Given the description of an element on the screen output the (x, y) to click on. 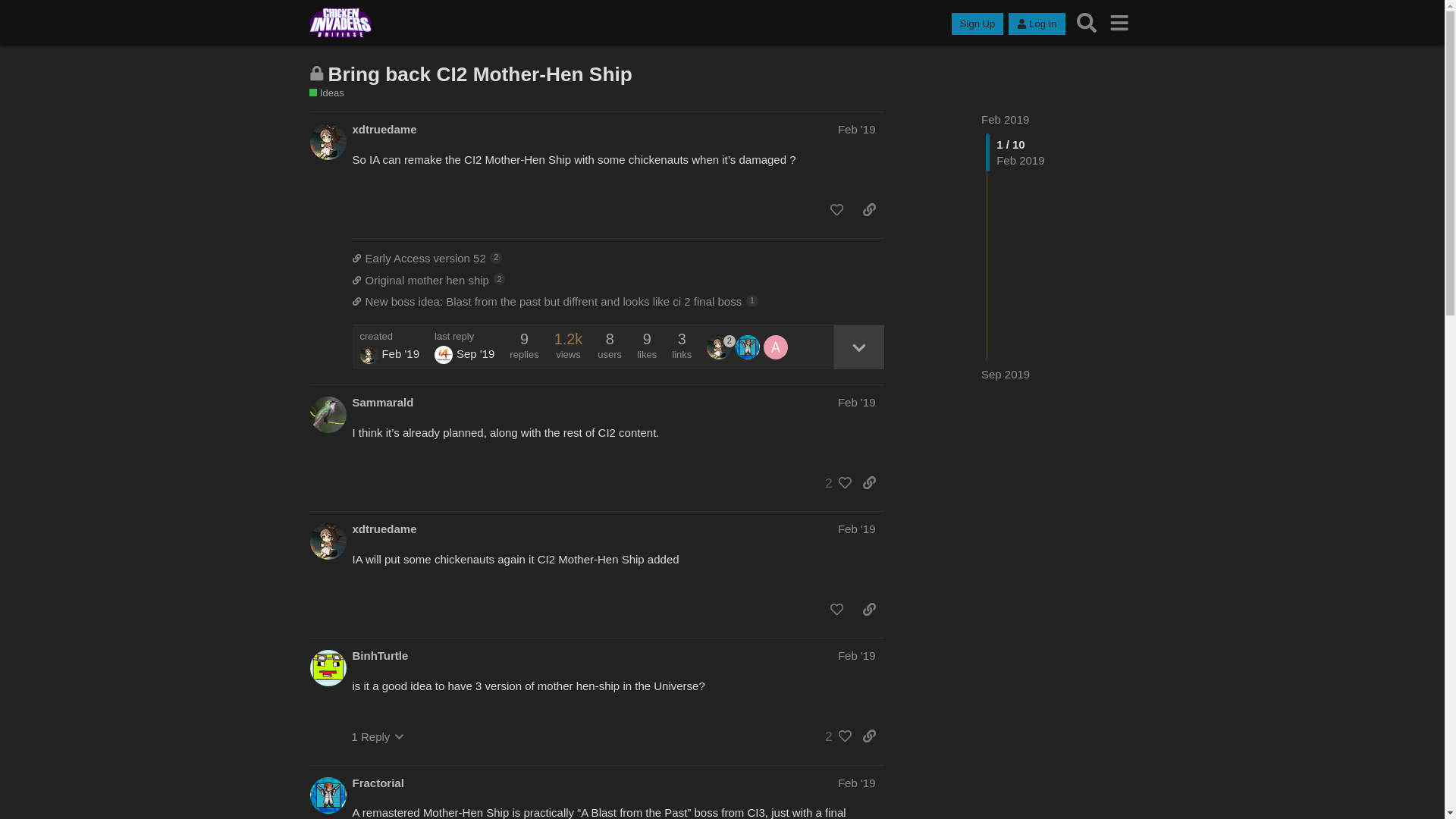
2 (833, 483)
Ideas (325, 92)
expand topic details (857, 347)
Feb 6, 2019 10:35 am (400, 353)
xdtruedame (368, 354)
xdtruedame (720, 346)
like this post (836, 209)
Sign Up (977, 24)
xdtruedame (384, 528)
2 (720, 346)
Sammarald (382, 401)
Log In (1036, 24)
This topic is closed; it no longer accepts new replies (316, 73)
Feb '19 (857, 128)
menu (1119, 22)
